Given the description of an element on the screen output the (x, y) to click on. 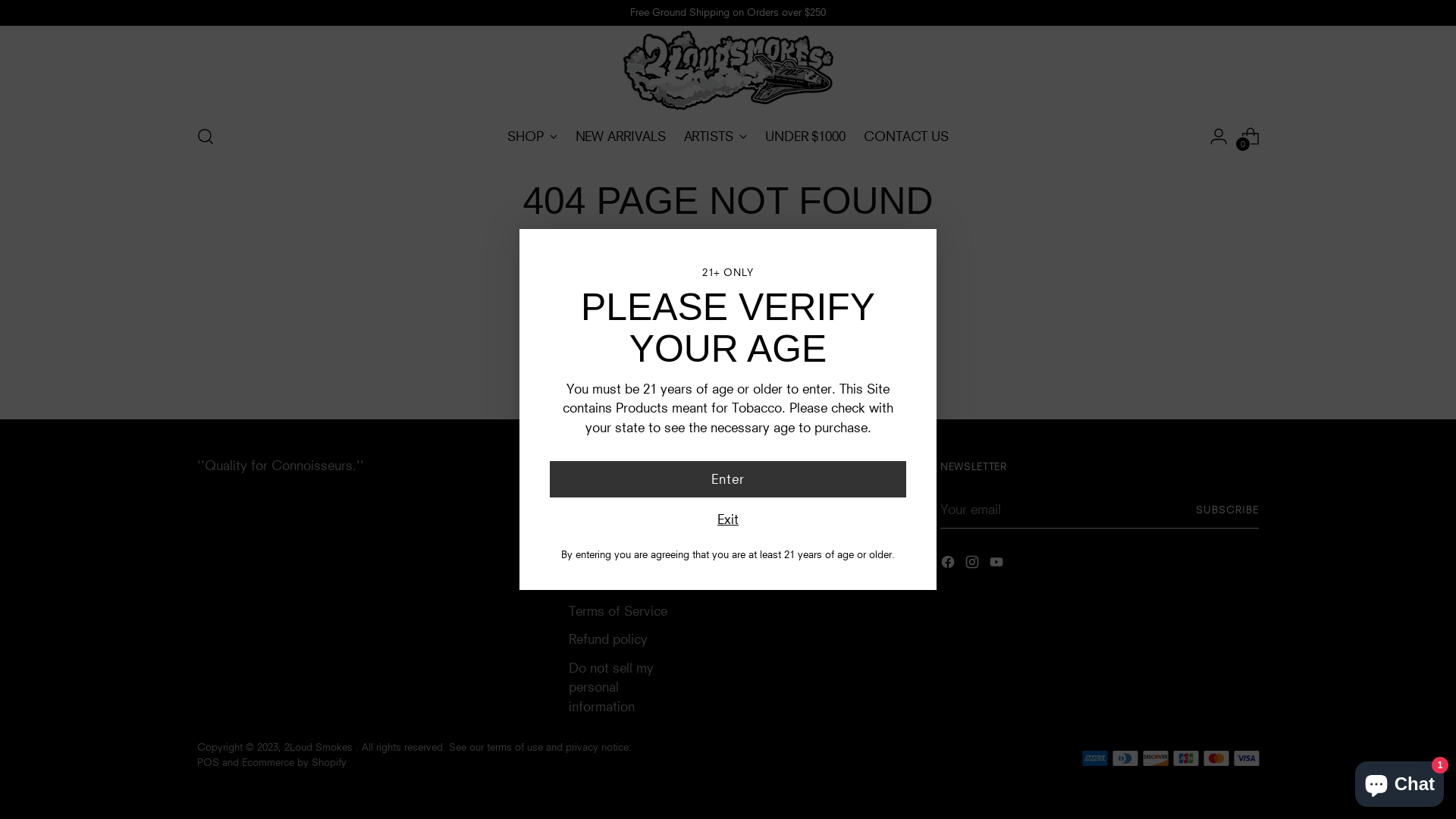
Terms of Service Element type: text (617, 610)
SUBSCRIBE Element type: text (1226, 509)
SHOP Element type: text (532, 136)
Refund Policy Element type: text (607, 553)
Refund policy Element type: text (607, 638)
2Loud Smokes Element type: text (319, 746)
Enter Element type: text (727, 479)
Exit Element type: text (727, 519)
2Loud Smokes  on Facebook Element type: hover (949, 564)
Shopify online store chat Element type: hover (1399, 780)
FAQ Element type: text (581, 497)
Contact Us Element type: text (761, 525)
ARTISTS Element type: text (715, 136)
2Loud Smokes  on YouTube Element type: hover (997, 564)
0 Element type: text (1250, 136)
NEW ARRIVALS Element type: text (620, 136)
Ecommerce by Shopify Element type: text (293, 762)
Do not sell my personal information Element type: text (610, 686)
Return home Element type: text (727, 286)
POS Element type: text (208, 762)
CONTACT US Element type: text (905, 136)
Terms of Service Element type: text (617, 525)
UNDER $1000 Element type: text (805, 136)
2Loud Smokes  on Instagram Element type: hover (973, 564)
Privacy Policy Element type: text (608, 581)
Blog Element type: text (740, 497)
